Given the description of an element on the screen output the (x, y) to click on. 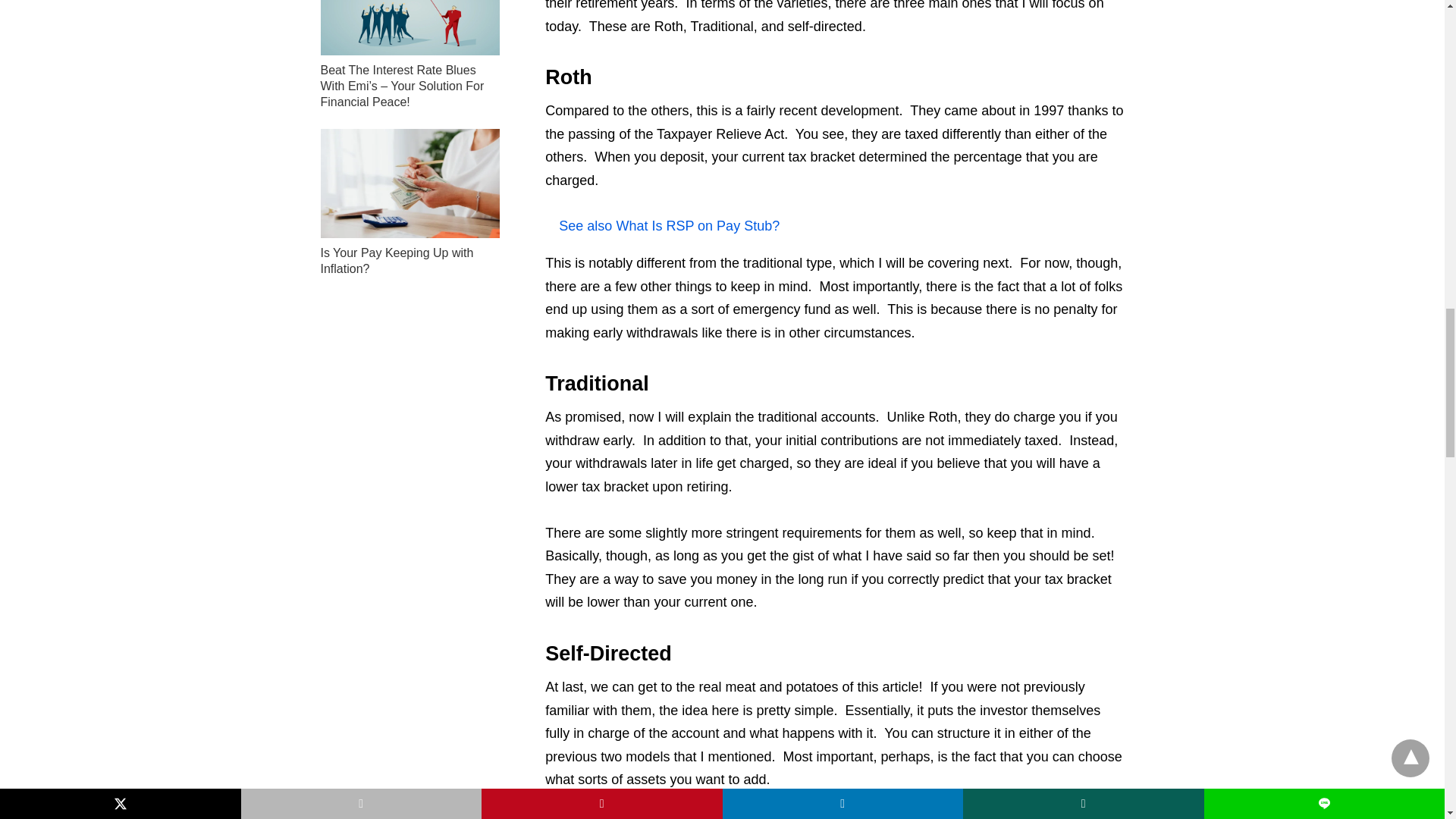
Is Your Pay Keeping Up with Inflation? (396, 260)
Is Your Pay Keeping Up with Inflation? (396, 260)
Is Your Pay Keeping Up with Inflation? (409, 183)
See also What Is RSP on Pay Stub? (834, 226)
